Given the description of an element on the screen output the (x, y) to click on. 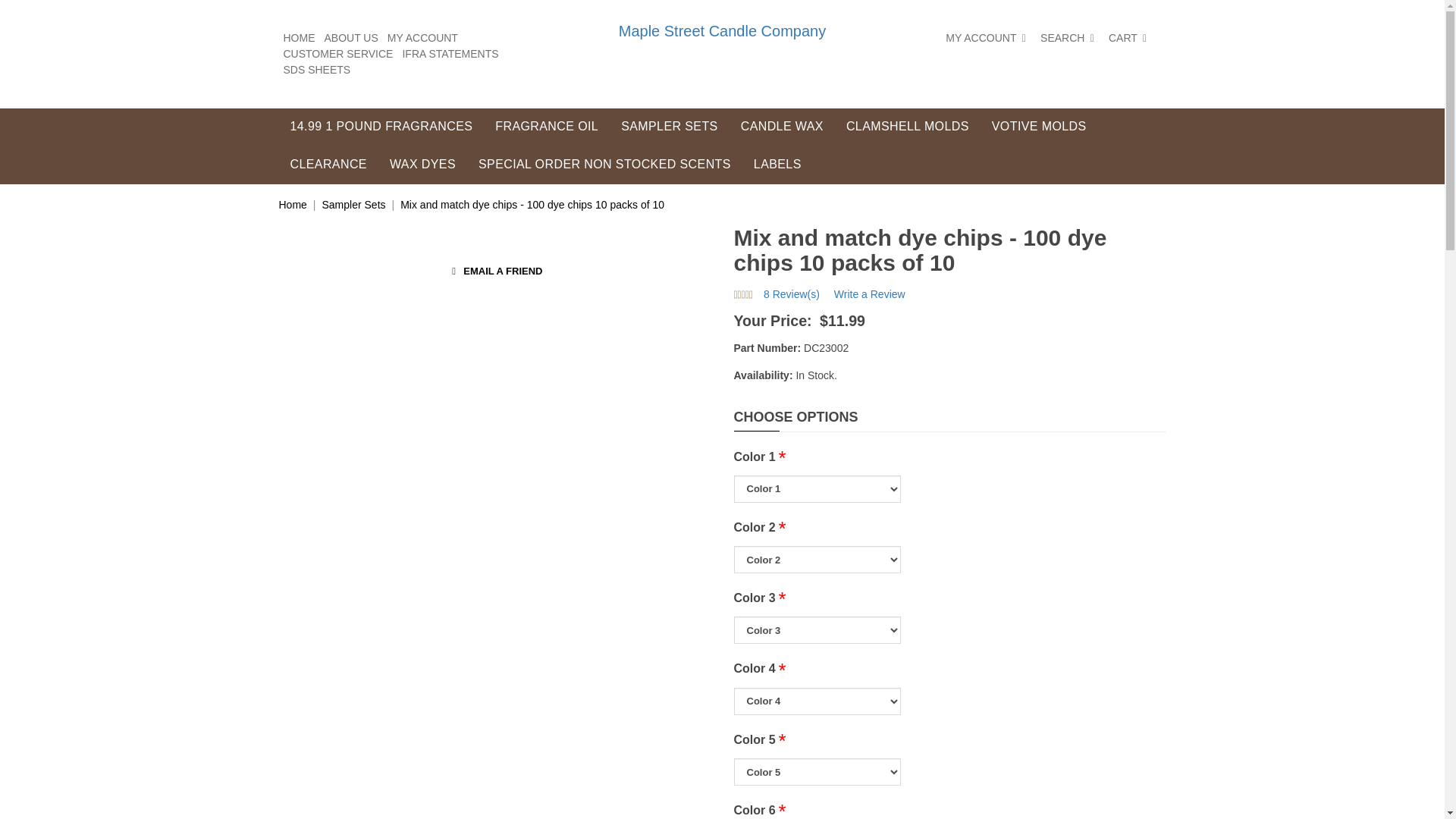
CLAMSHELL MOLDS (906, 127)
CART (1129, 37)
Mix and match dye chips - 100 dye chips 10 packs of 10 (531, 204)
14.99 1 POUND FRAGRANCES (381, 127)
MY ACCOUNT (422, 37)
ABOUT US (351, 37)
Home (293, 204)
SAMPLER SETS (669, 127)
SDS SHEETS (316, 69)
Sampler Sets (353, 204)
